Given the description of an element on the screen output the (x, y) to click on. 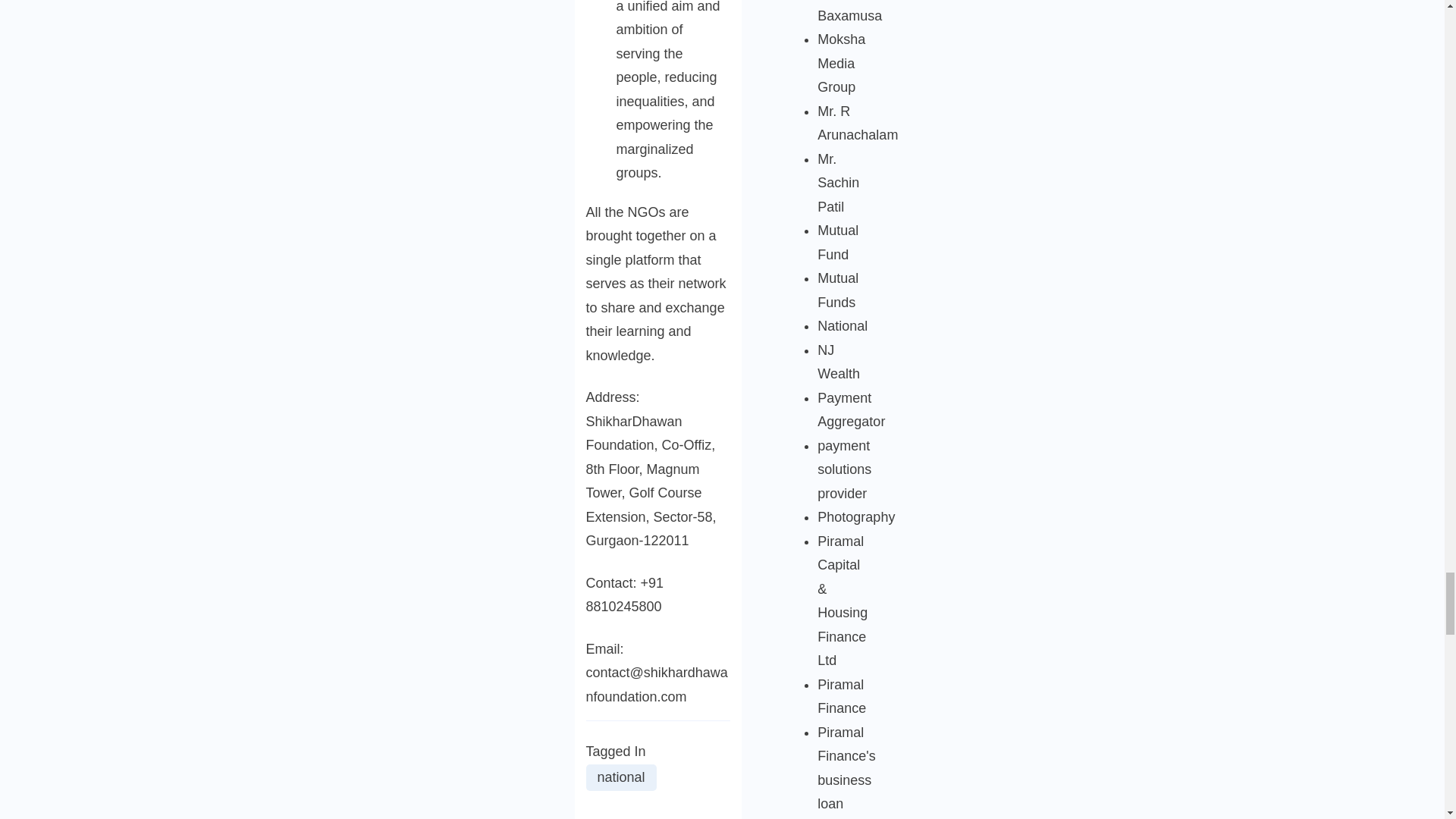
national (620, 777)
